Given the description of an element on the screen output the (x, y) to click on. 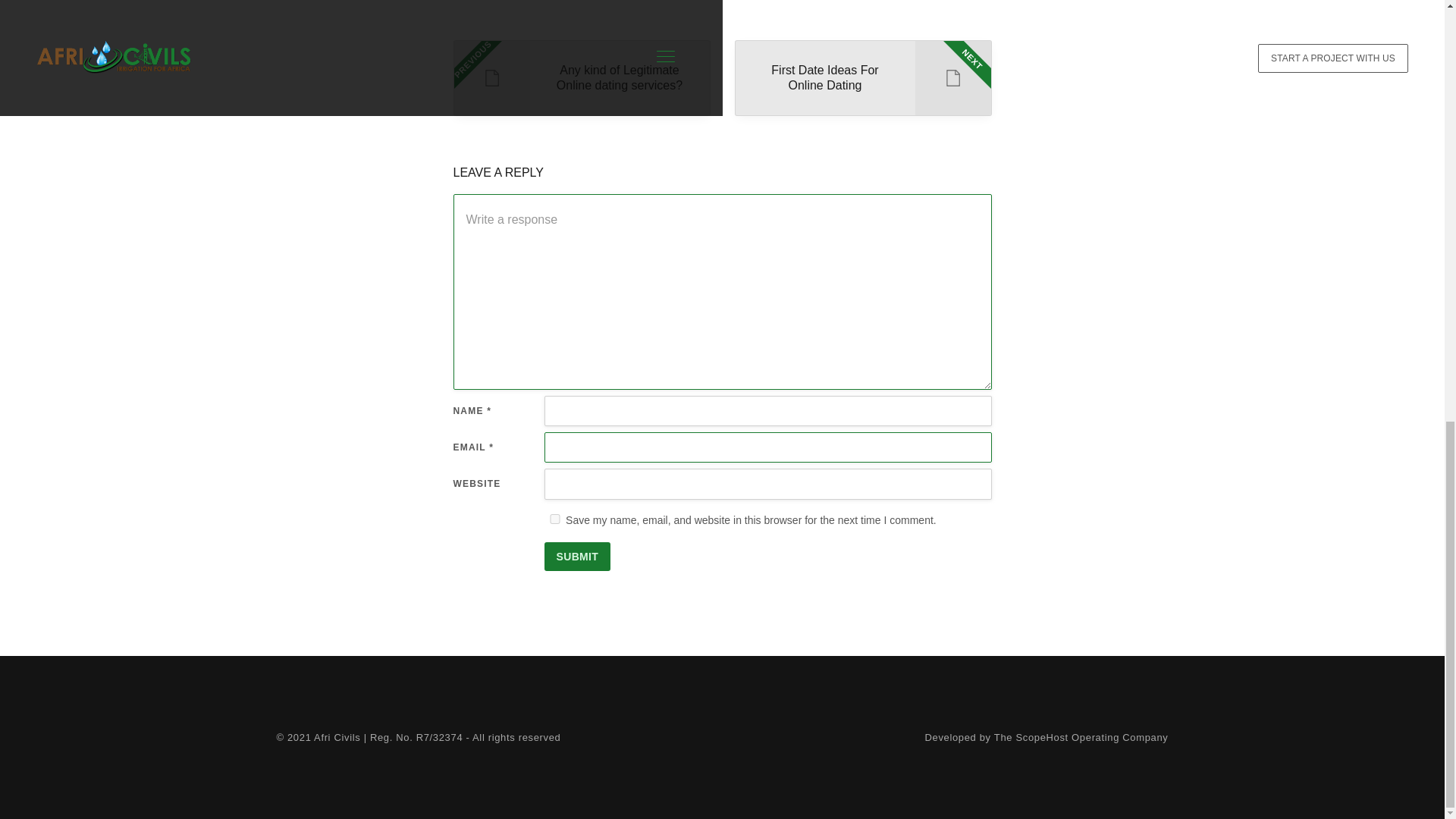
Submit (577, 556)
Submit (577, 556)
yes (862, 78)
Developed by The ScopeHost Operating Company (555, 519)
